Given the description of an element on the screen output the (x, y) to click on. 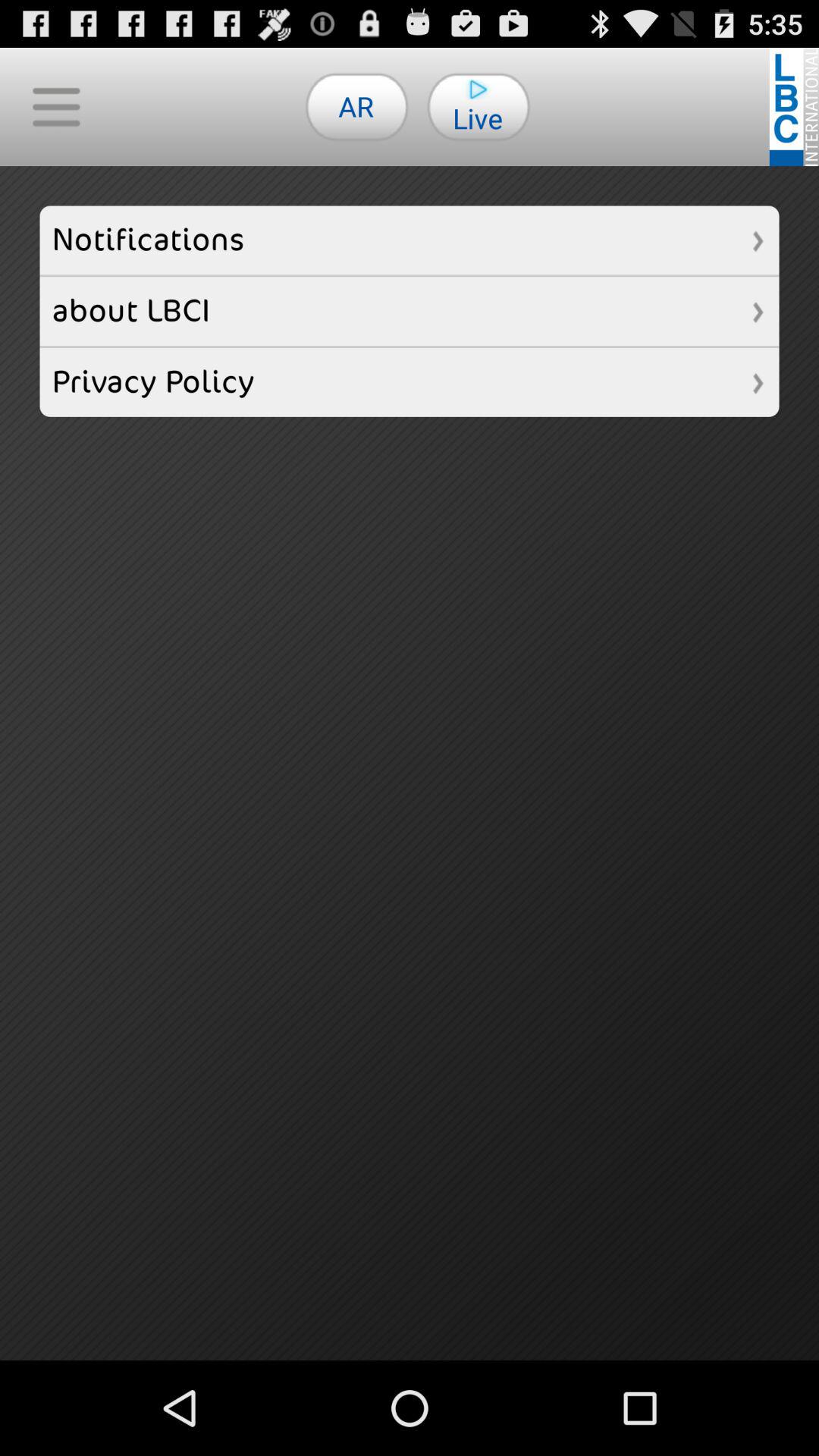
launch the app to the left of live (356, 106)
